Given the description of an element on the screen output the (x, y) to click on. 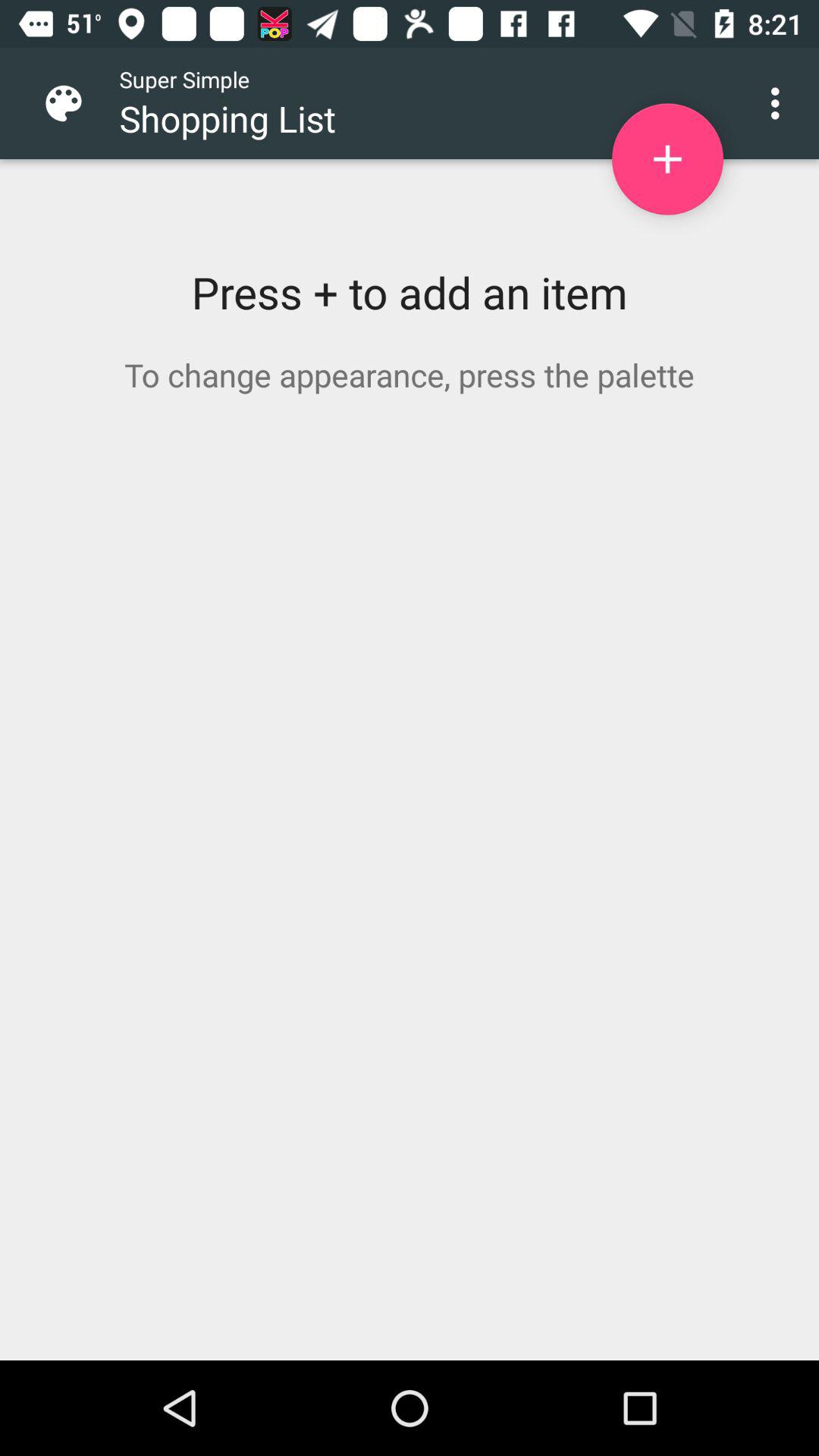
click the icon above the press to add icon (75, 103)
